Given the description of an element on the screen output the (x, y) to click on. 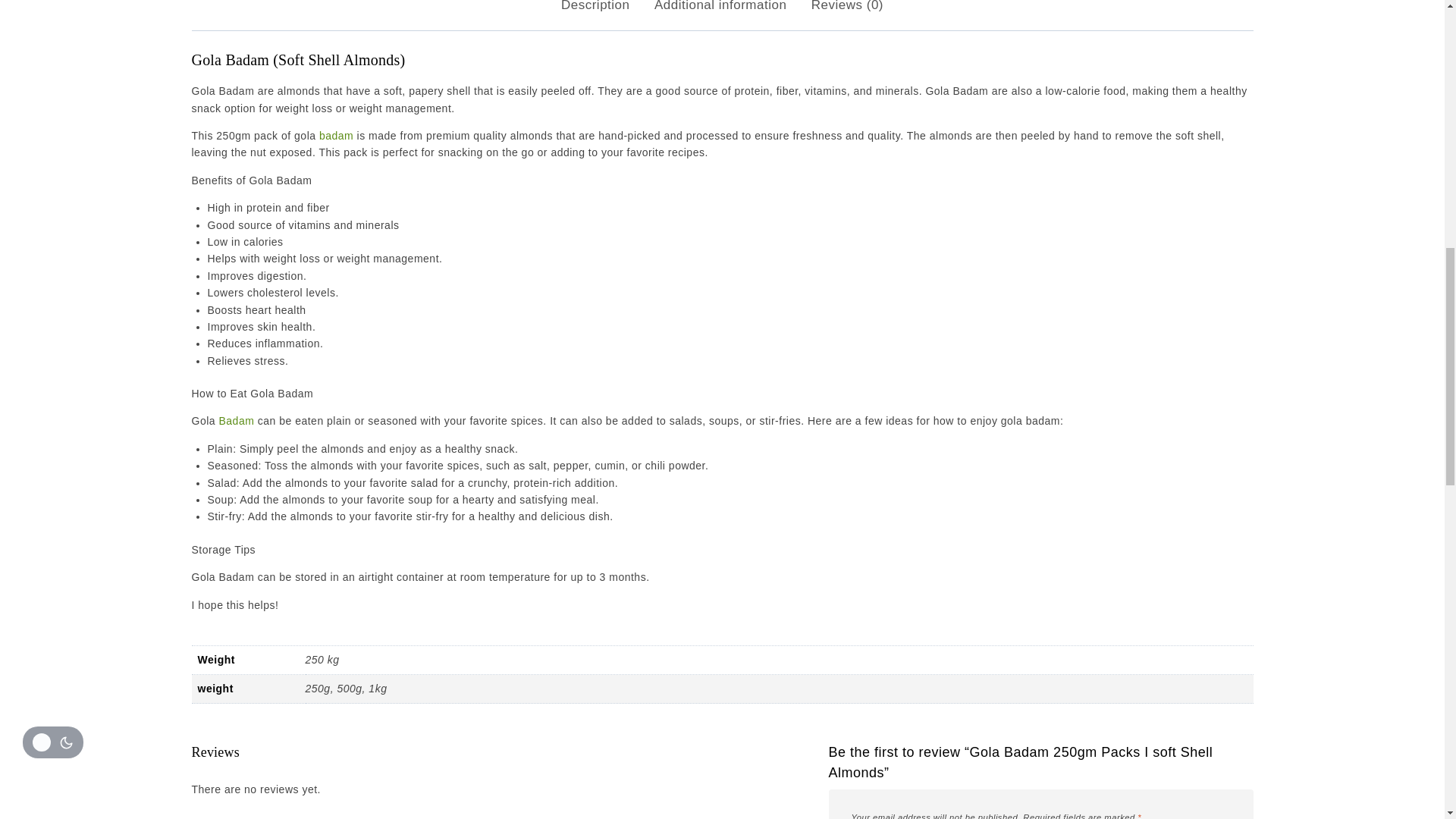
Additional information (719, 13)
Badam (235, 420)
badam (335, 135)
Description (595, 13)
